Given the description of an element on the screen output the (x, y) to click on. 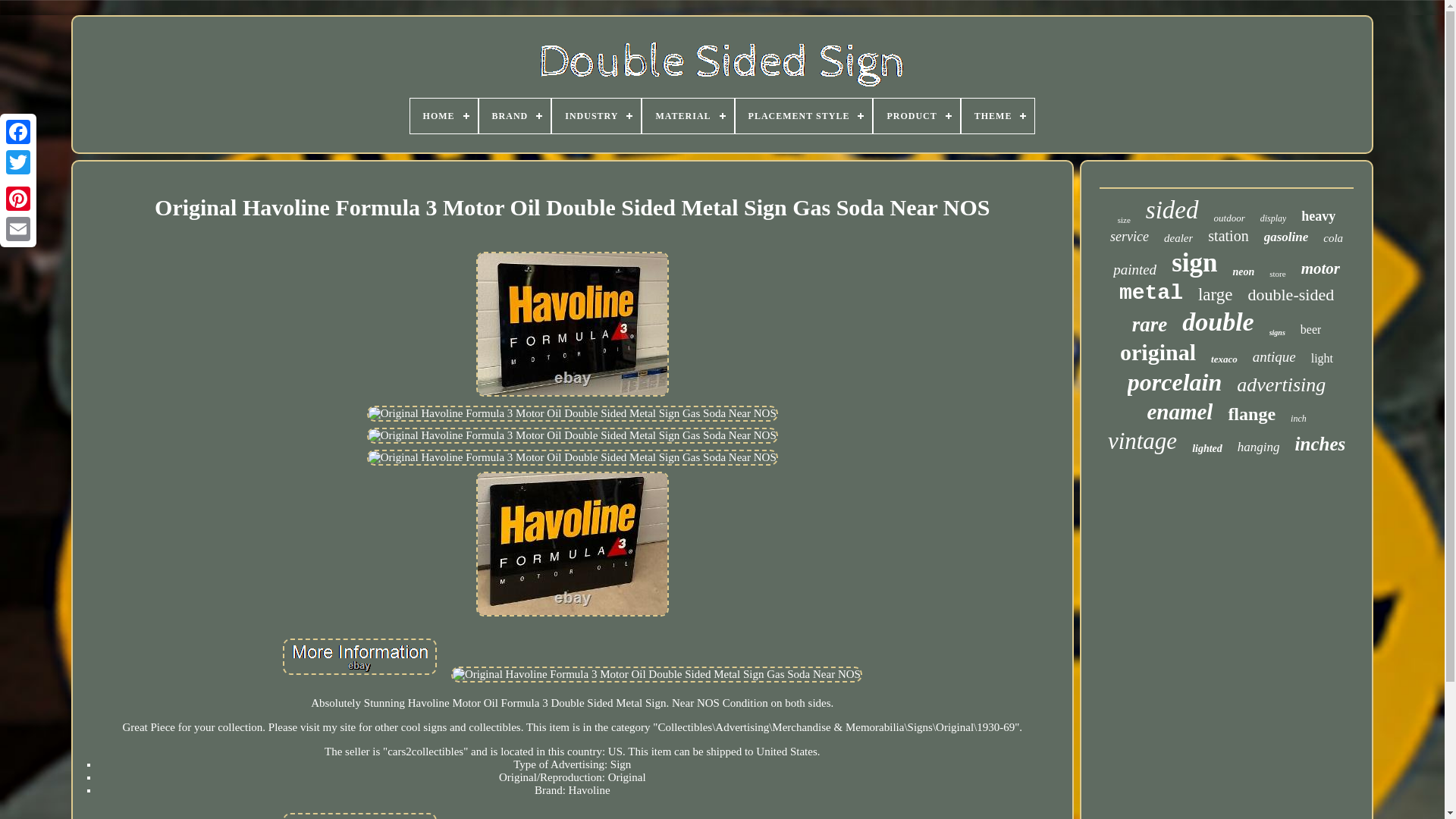
HOME (443, 115)
Facebook (17, 132)
Pinterest (17, 198)
BRAND (515, 115)
INDUSTRY (595, 115)
